Given the description of an element on the screen output the (x, y) to click on. 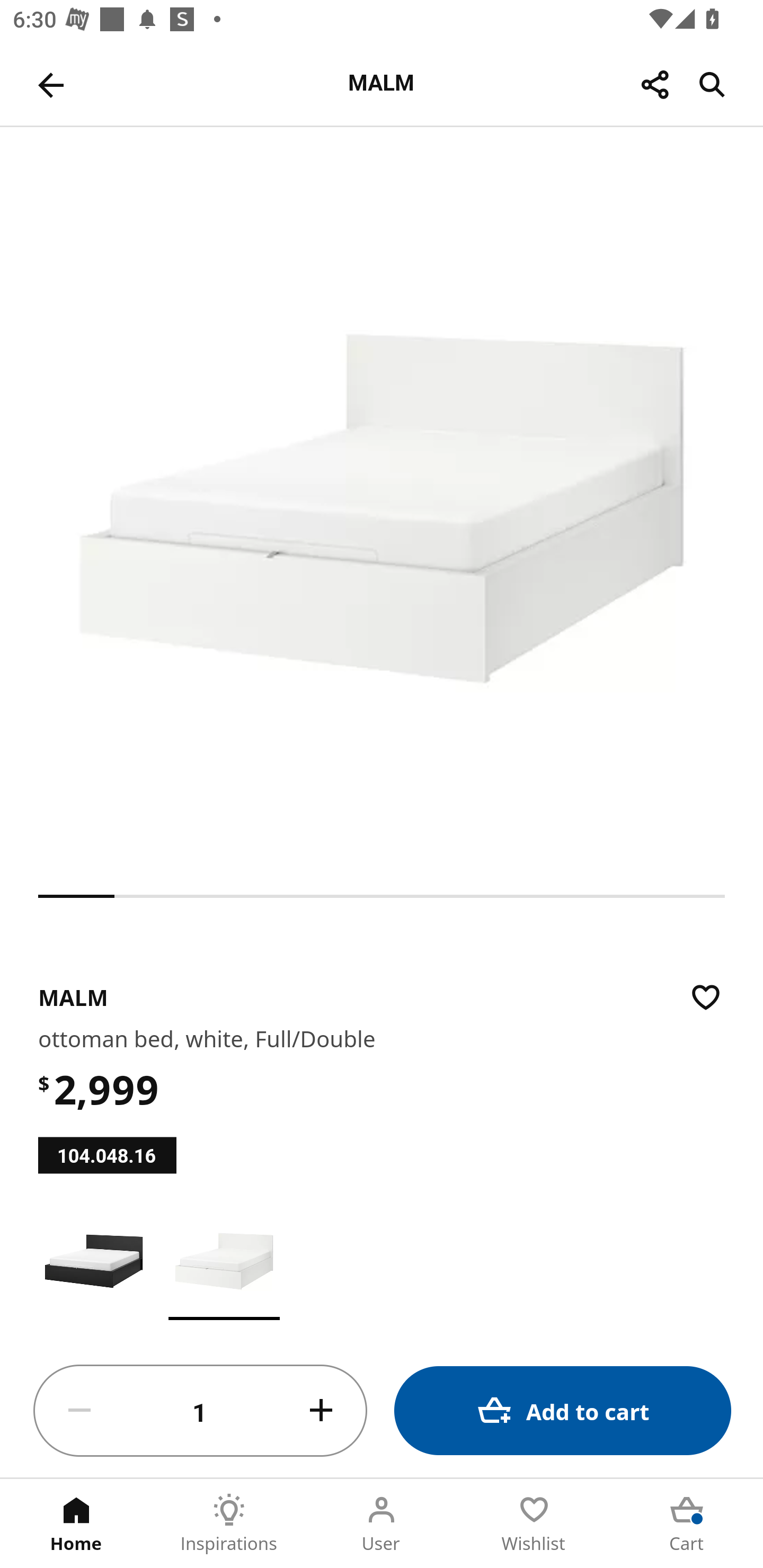
Add to cart (562, 1410)
1 (200, 1411)
Home
Tab 1 of 5 (76, 1522)
Inspirations
Tab 2 of 5 (228, 1522)
User
Tab 3 of 5 (381, 1522)
Wishlist
Tab 4 of 5 (533, 1522)
Cart
Tab 5 of 5 (686, 1522)
